Given the description of an element on the screen output the (x, y) to click on. 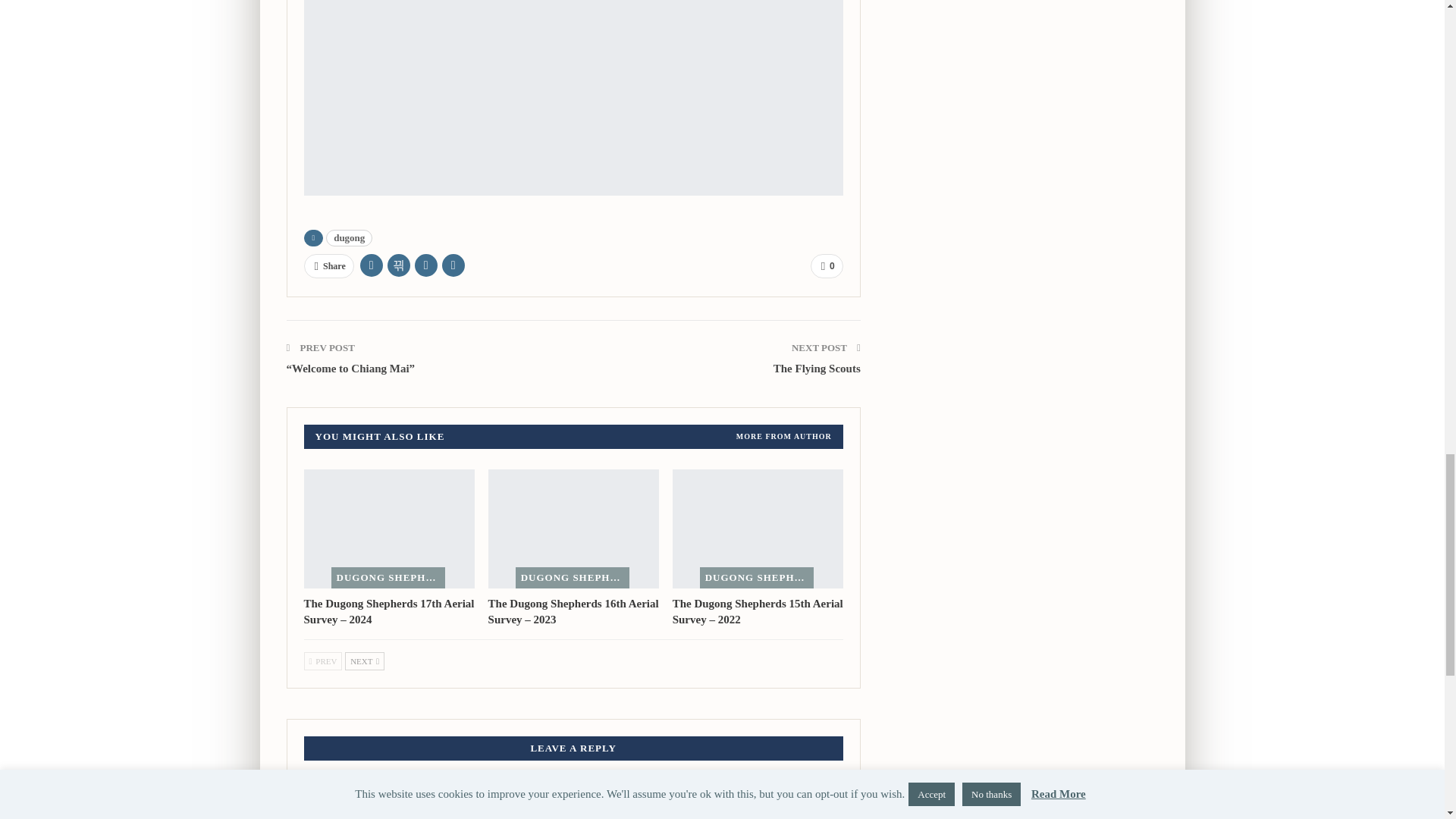
dugong (349, 238)
Previous (322, 660)
Next (364, 660)
0 (826, 265)
